Given the description of an element on the screen output the (x, y) to click on. 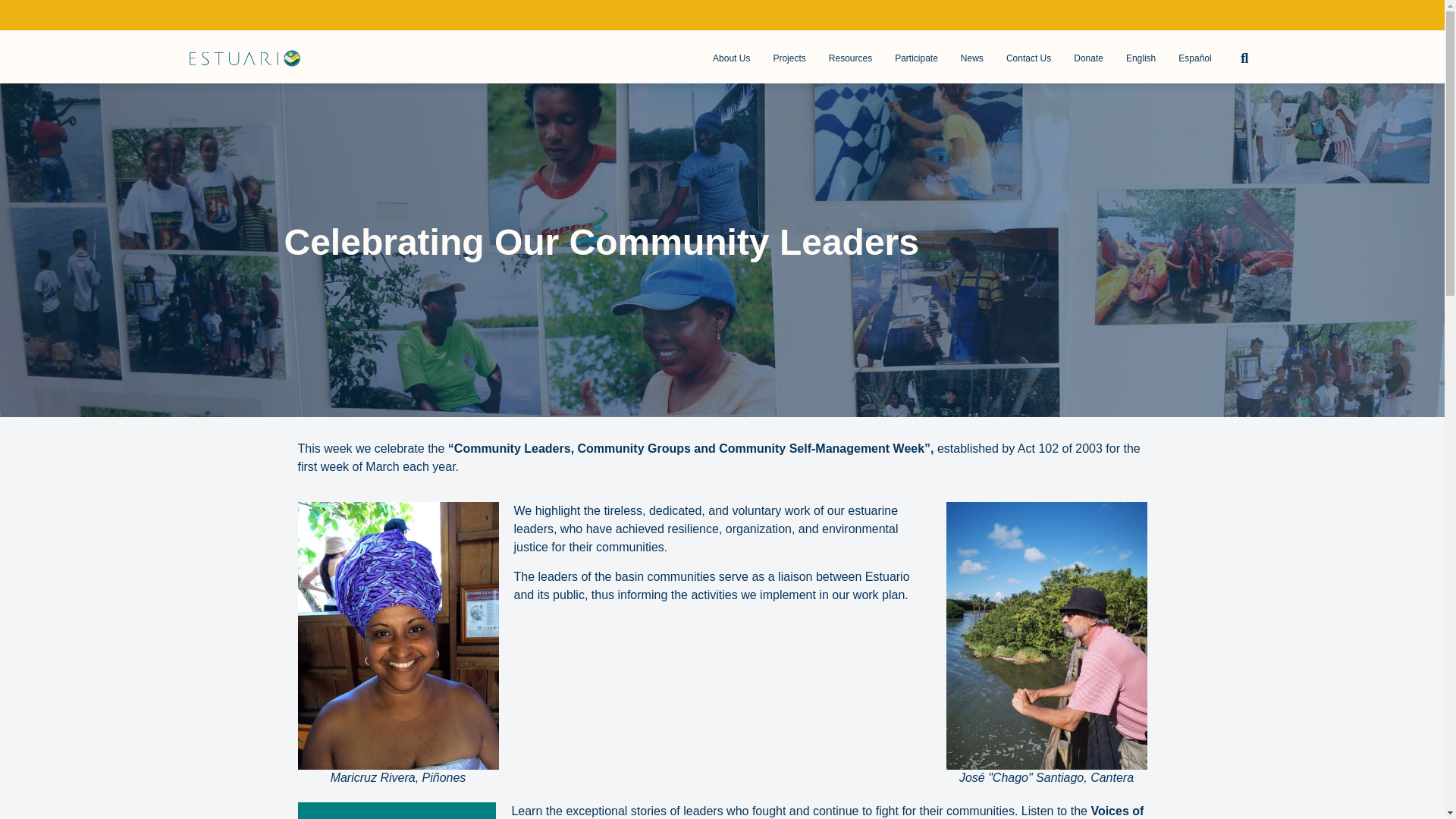
Projects (787, 58)
About Us (730, 58)
Resources (849, 58)
